Given the description of an element on the screen output the (x, y) to click on. 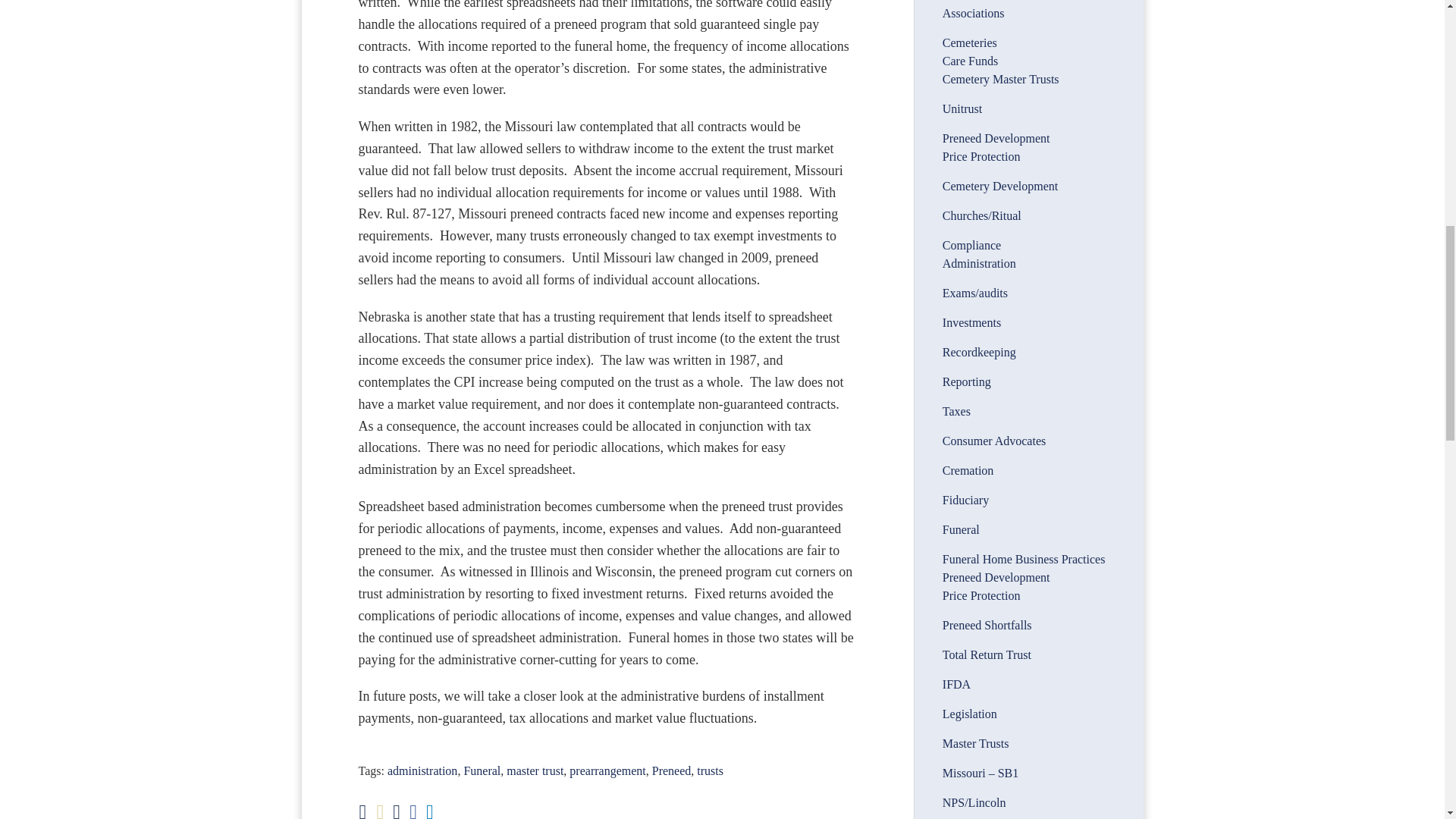
prearrangement (607, 770)
administration (422, 770)
Cemetery Master Trusts (1000, 78)
Care Funds (969, 60)
trusts (710, 770)
Unitrust (961, 108)
Cemetery Development (1000, 185)
Preneed (671, 770)
master trust (534, 770)
Funeral (481, 770)
Associations (973, 12)
Cemeteries (969, 42)
Preneed Development (995, 137)
Price Protection (981, 155)
